Given the description of an element on the screen output the (x, y) to click on. 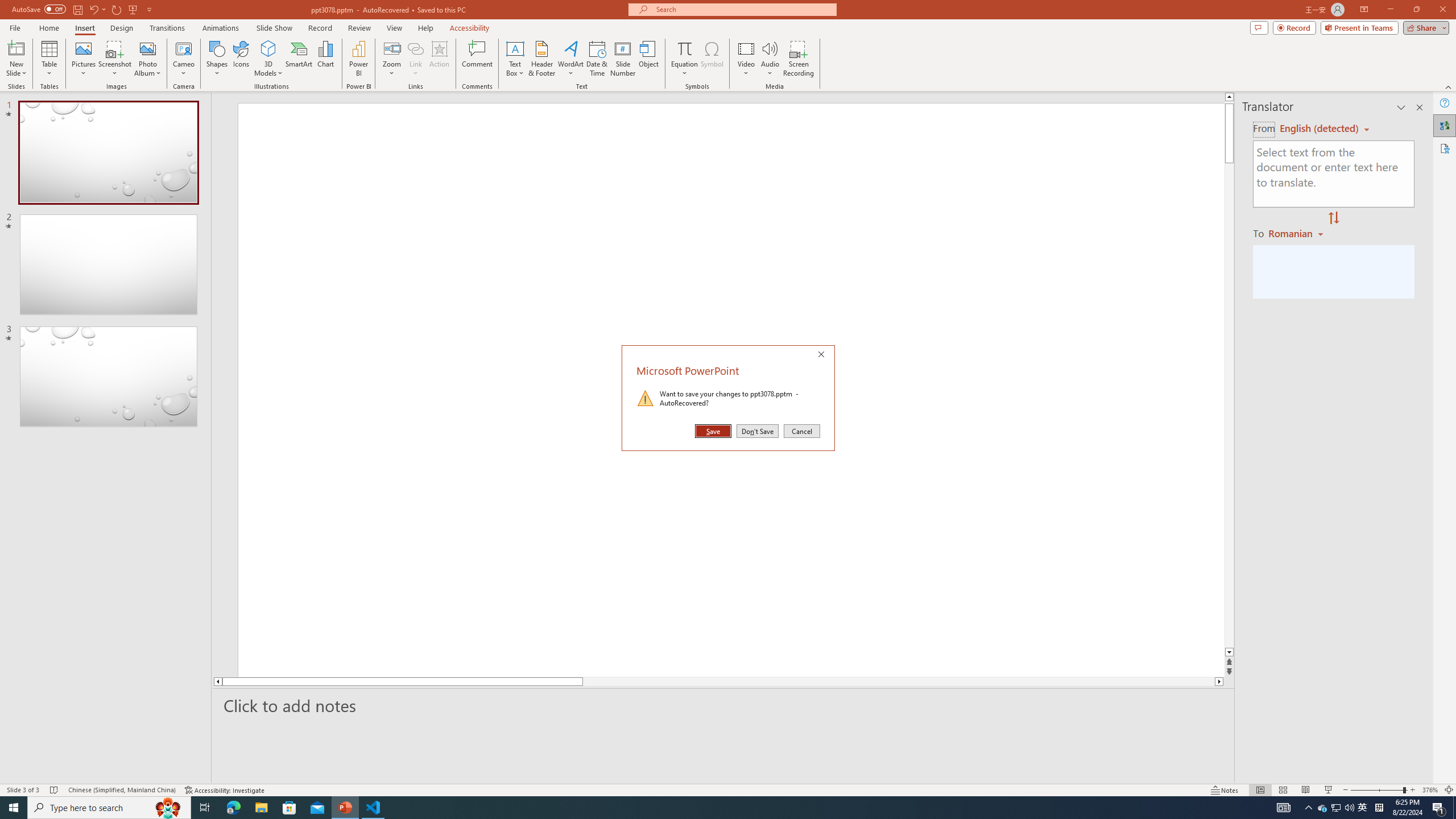
Symbol... (711, 58)
Link (415, 48)
Action (439, 58)
